Given the description of an element on the screen output the (x, y) to click on. 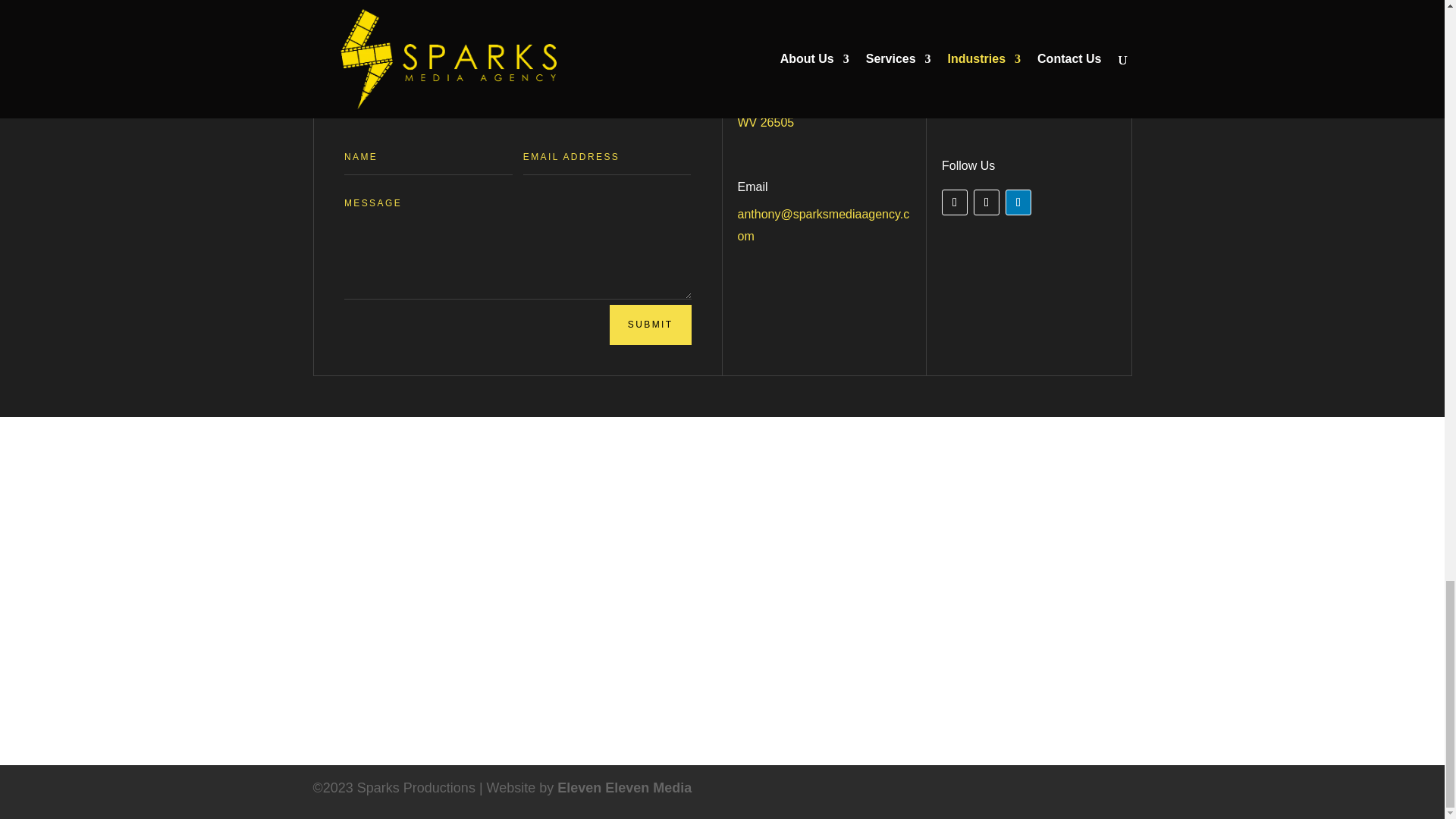
Follow on Instagram (986, 202)
Follow on LinkedIn (1018, 202)
Follow on Facebook (955, 202)
